Given the description of an element on the screen output the (x, y) to click on. 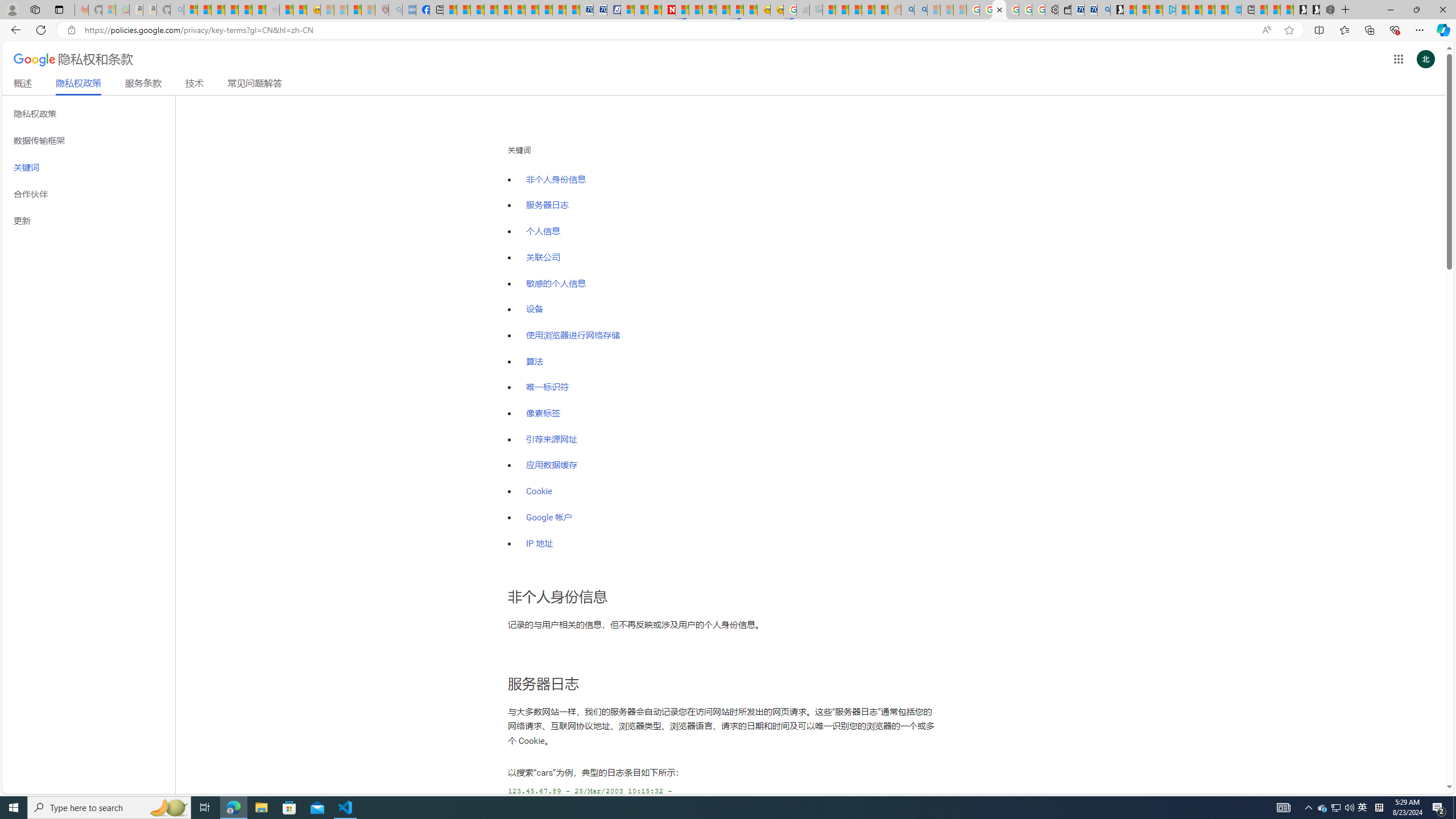
Bing Real Estate - Home sales and rental listings (1103, 9)
